Given the description of an element on the screen output the (x, y) to click on. 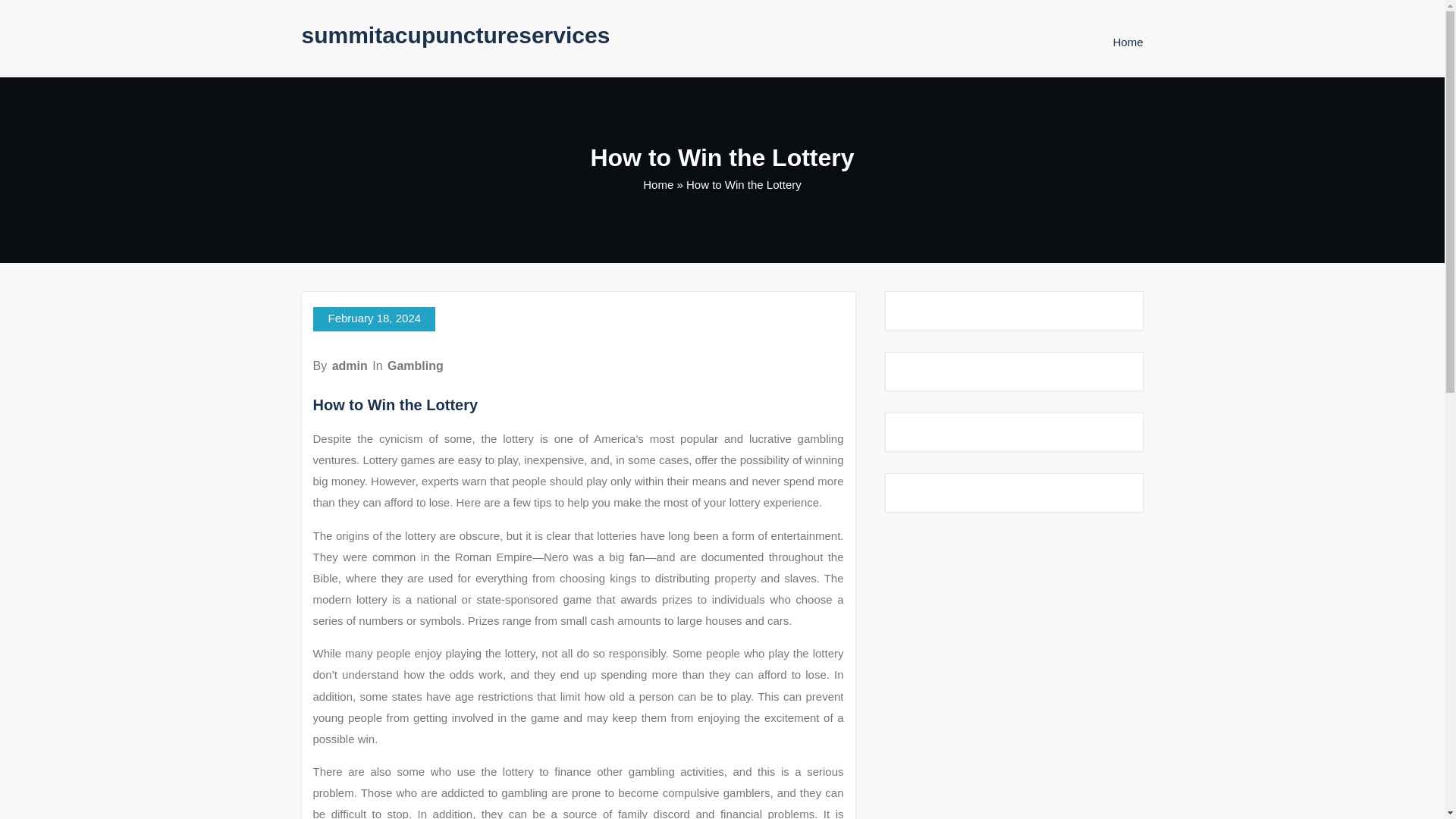
Gambling (415, 365)
February 18, 2024 (374, 319)
summitacupunctureservices (455, 34)
Home (657, 184)
admin (349, 365)
Home (1127, 41)
Home (1127, 41)
